Given the description of an element on the screen output the (x, y) to click on. 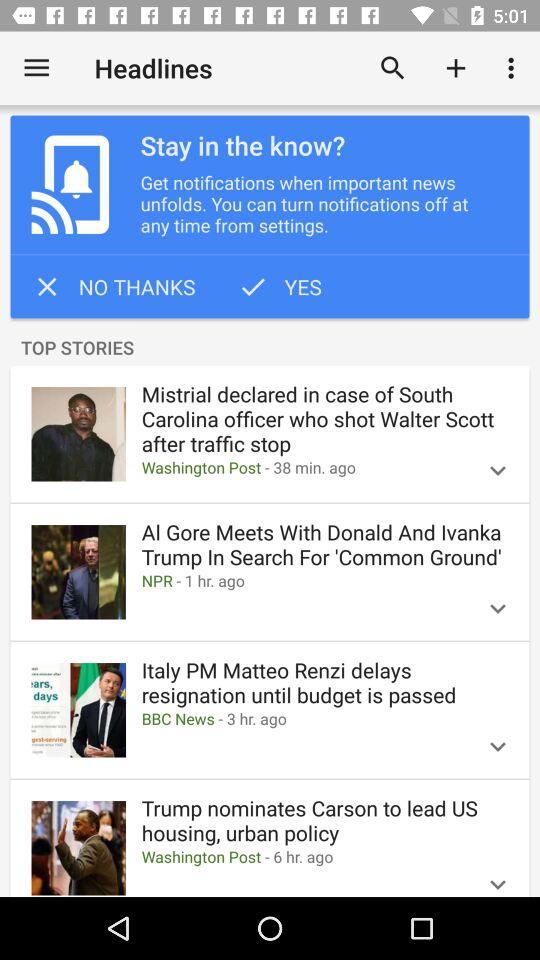
turn on icon above bbc news 3 item (324, 682)
